Given the description of an element on the screen output the (x, y) to click on. 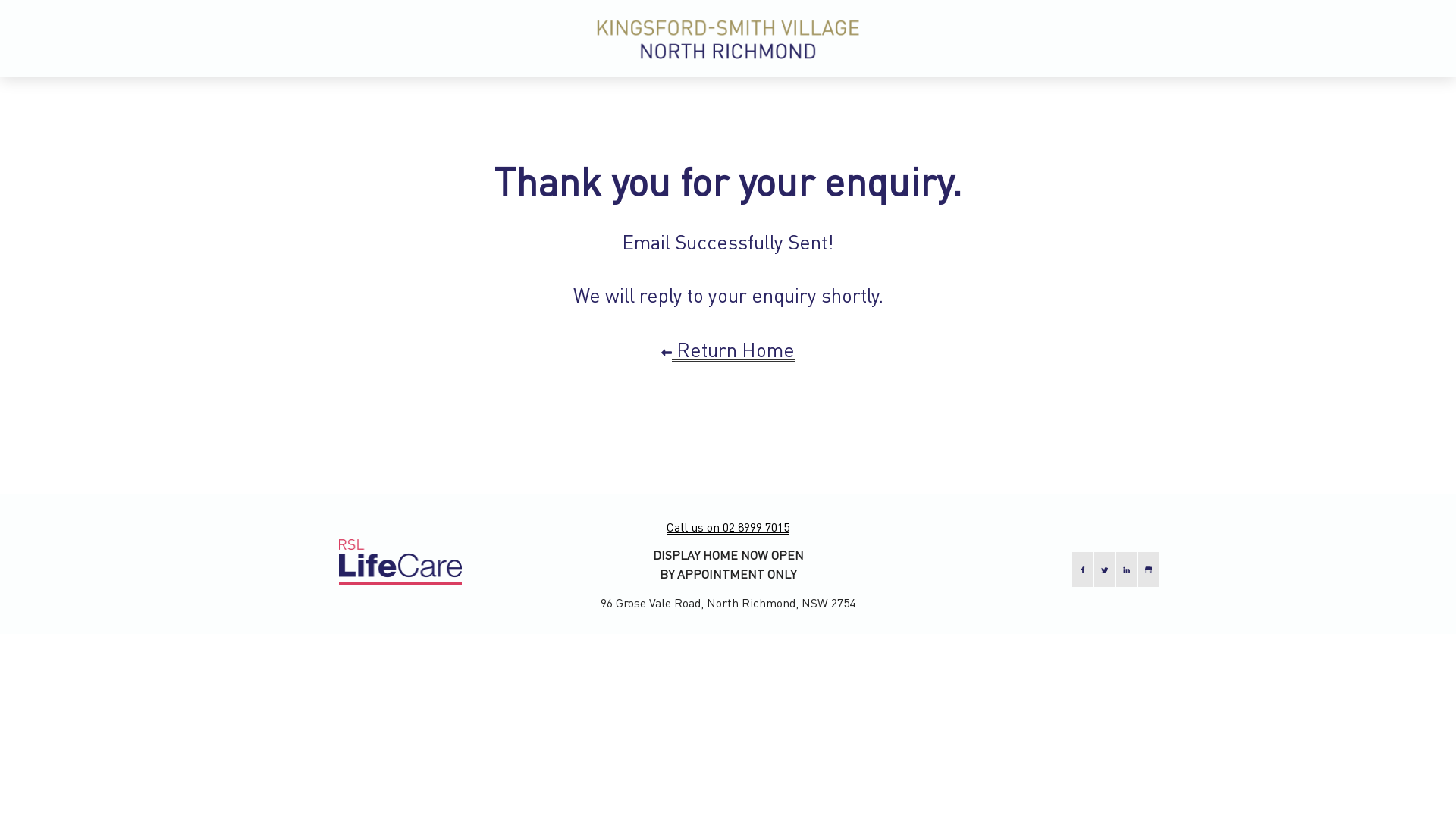
LinkedIn Element type: hover (1126, 569)
Facebook Element type: hover (1082, 569)
Twitter Element type: hover (1104, 569)
Call us on 02 8999 7015 Element type: text (727, 526)
Google My Business Element type: hover (1148, 569)
Return Home Element type: text (727, 349)
